Given the description of an element on the screen output the (x, y) to click on. 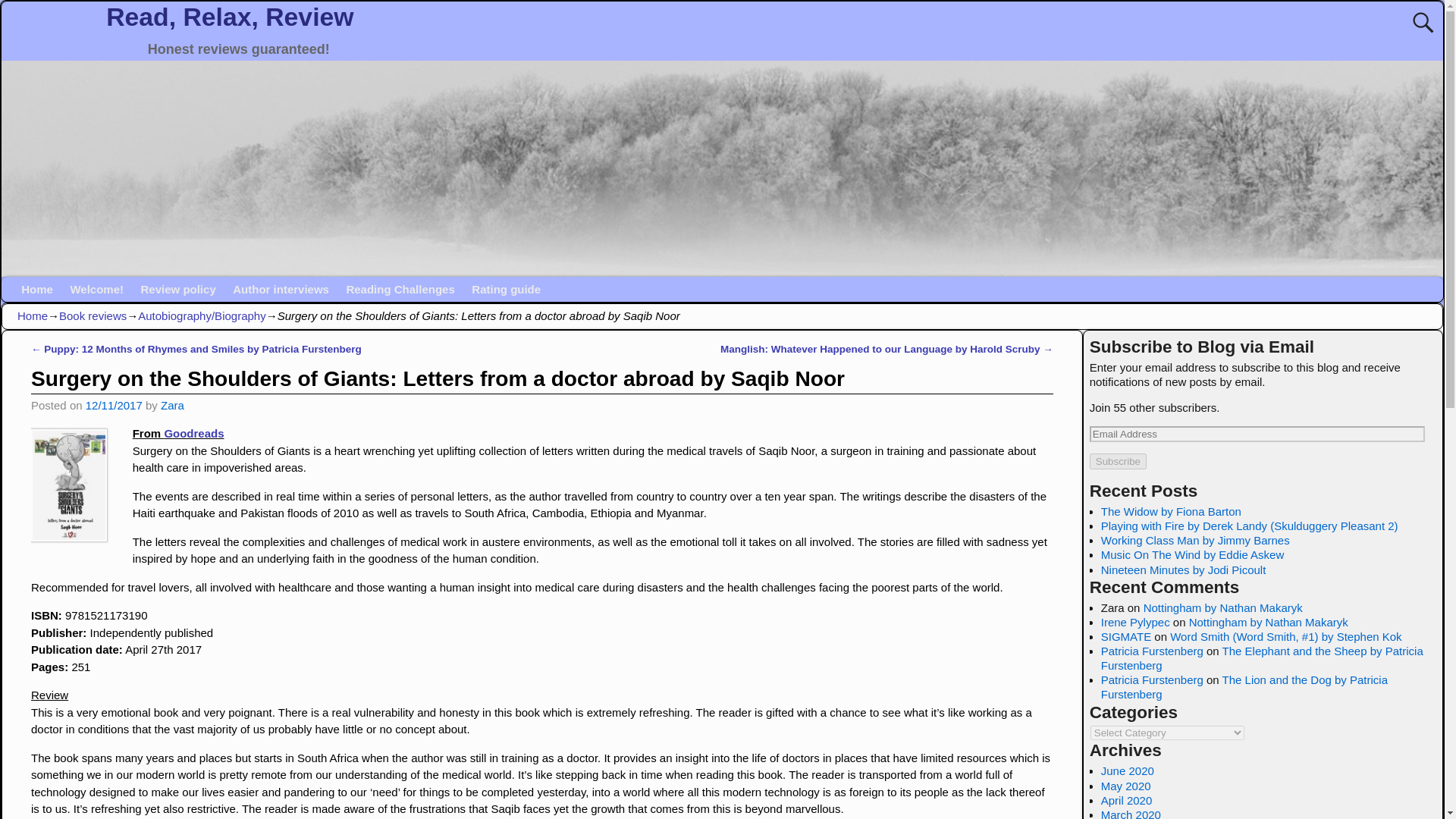
Goodreads (193, 432)
Read, Relax, Review (229, 16)
Rating guide (505, 289)
Welcome! (96, 289)
Home (37, 289)
Review policy (178, 289)
Home (32, 315)
Zara (172, 404)
Home (37, 289)
View all posts by Zara (172, 404)
11:56 am (113, 404)
Read, Relax, Review (229, 16)
Author interviews (280, 289)
Book reviews (92, 315)
Reading Challenges (400, 289)
